Given the description of an element on the screen output the (x, y) to click on. 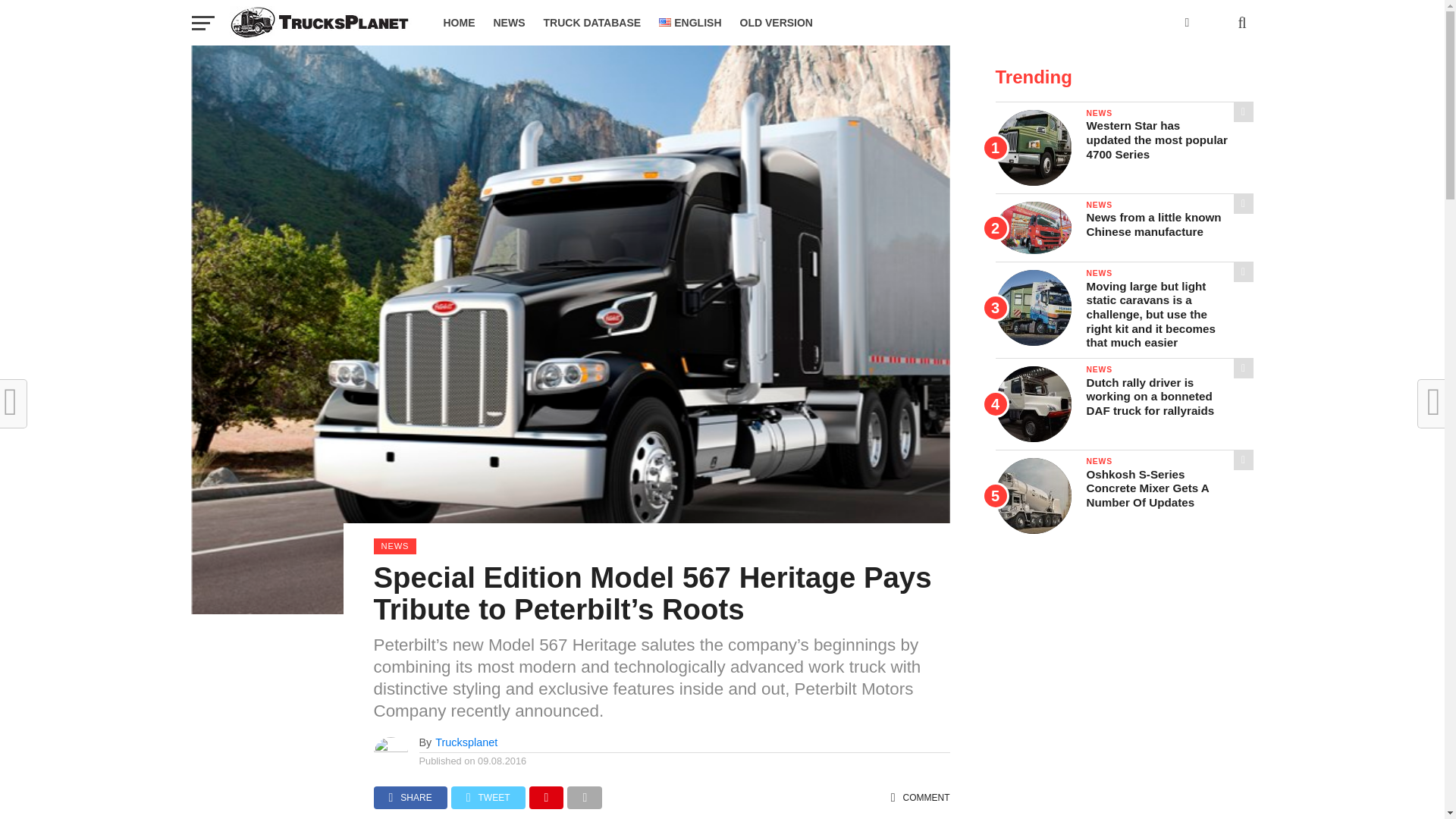
OLD VERSION (776, 22)
Posts by Trucksplanet (466, 742)
HOME (458, 22)
TRUCK DATABASE (591, 22)
NEWS (508, 22)
Trucksplanet (466, 742)
ENGLISH (689, 22)
